Given the description of an element on the screen output the (x, y) to click on. 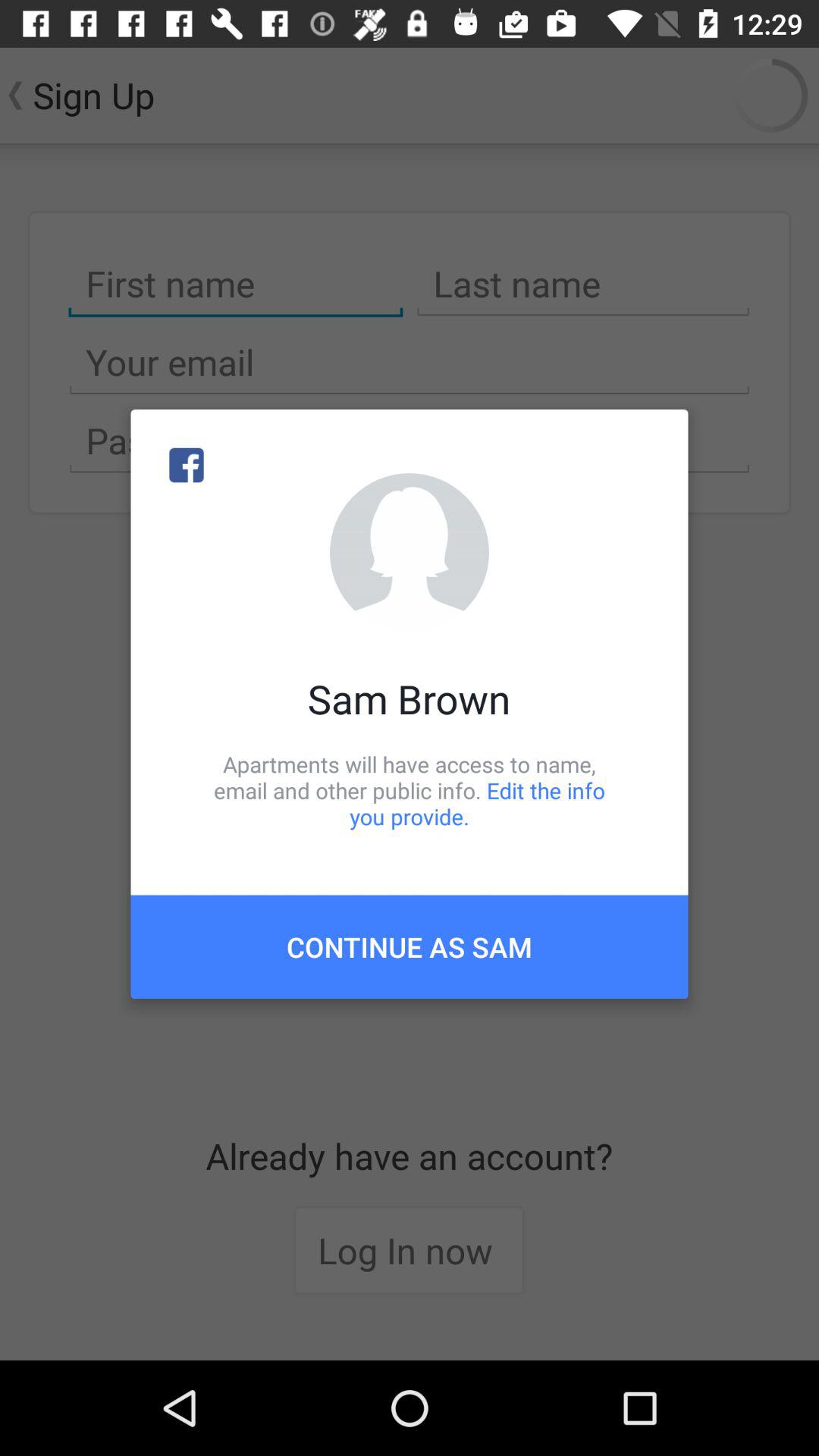
flip until the apartments will have (409, 790)
